Given the description of an element on the screen output the (x, y) to click on. 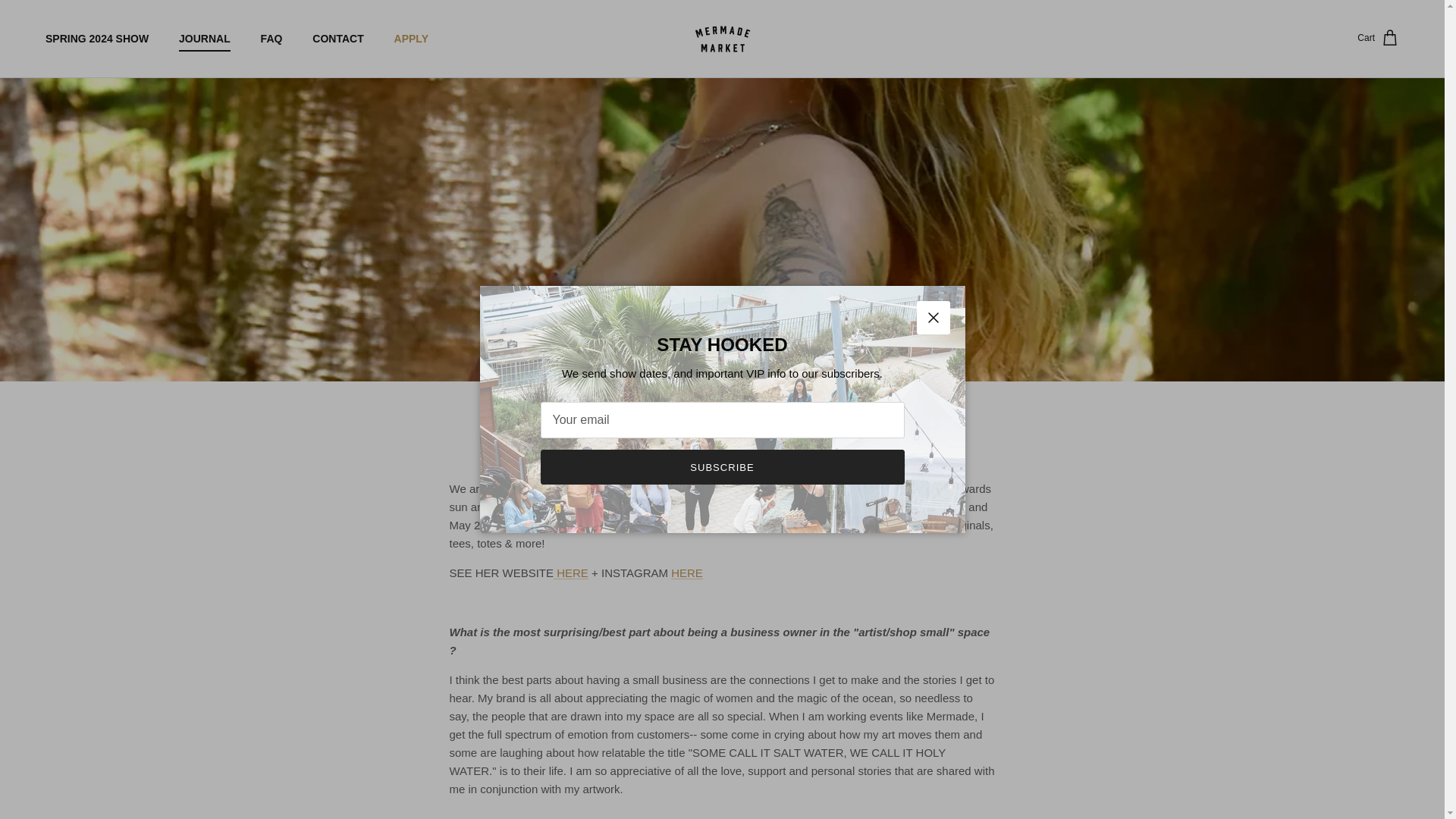
APPLY (411, 38)
CONTACT (337, 38)
HERE (570, 572)
FAQ (272, 38)
Mermade Market (721, 38)
SPRING 2024 SHOW (96, 38)
JOURNAL (204, 38)
HERE (687, 572)
Cart (1377, 38)
